Given the description of an element on the screen output the (x, y) to click on. 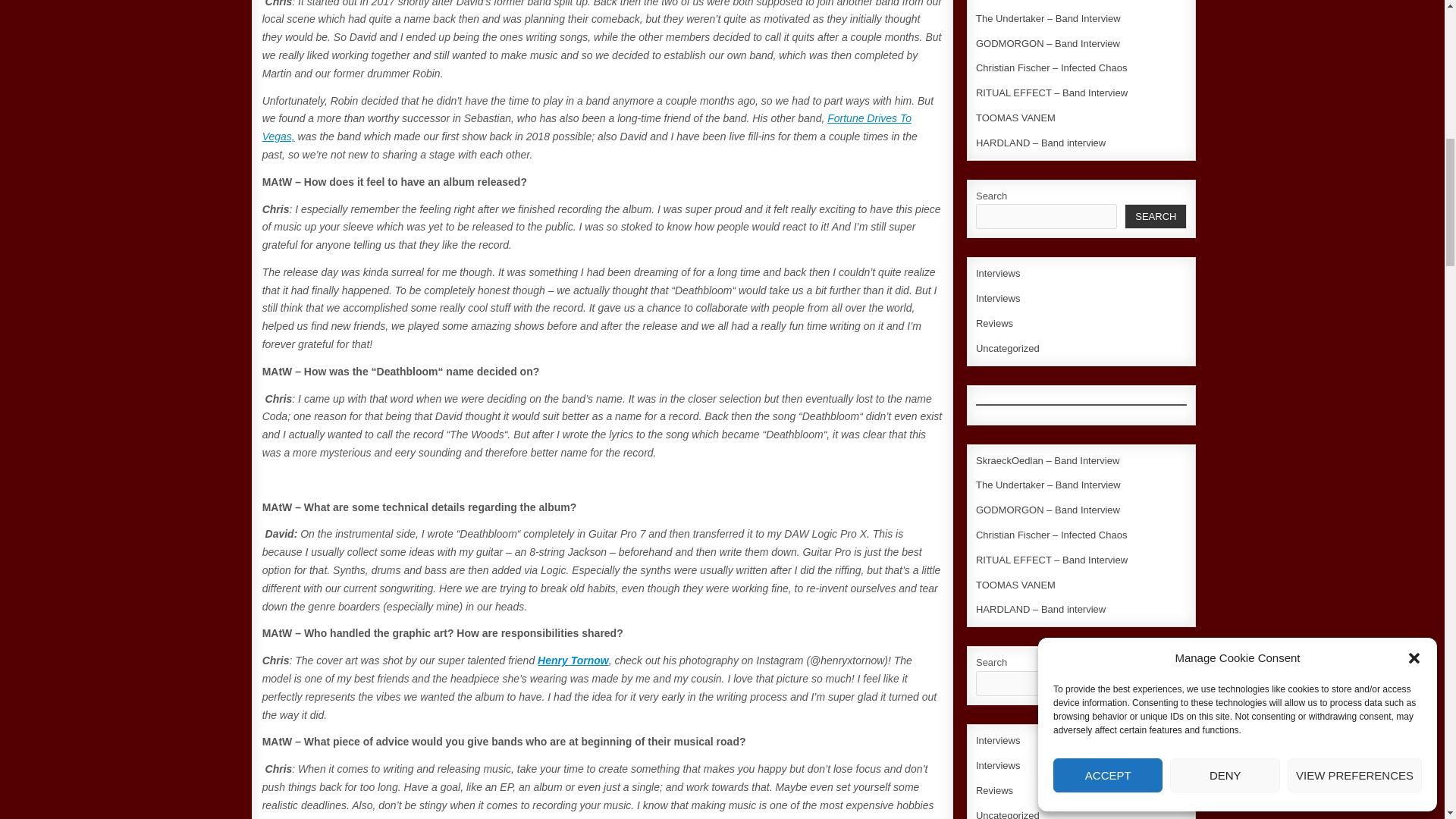
Fortune Drives To Vegas, (586, 127)
Henry Tornow (572, 660)
